Given the description of an element on the screen output the (x, y) to click on. 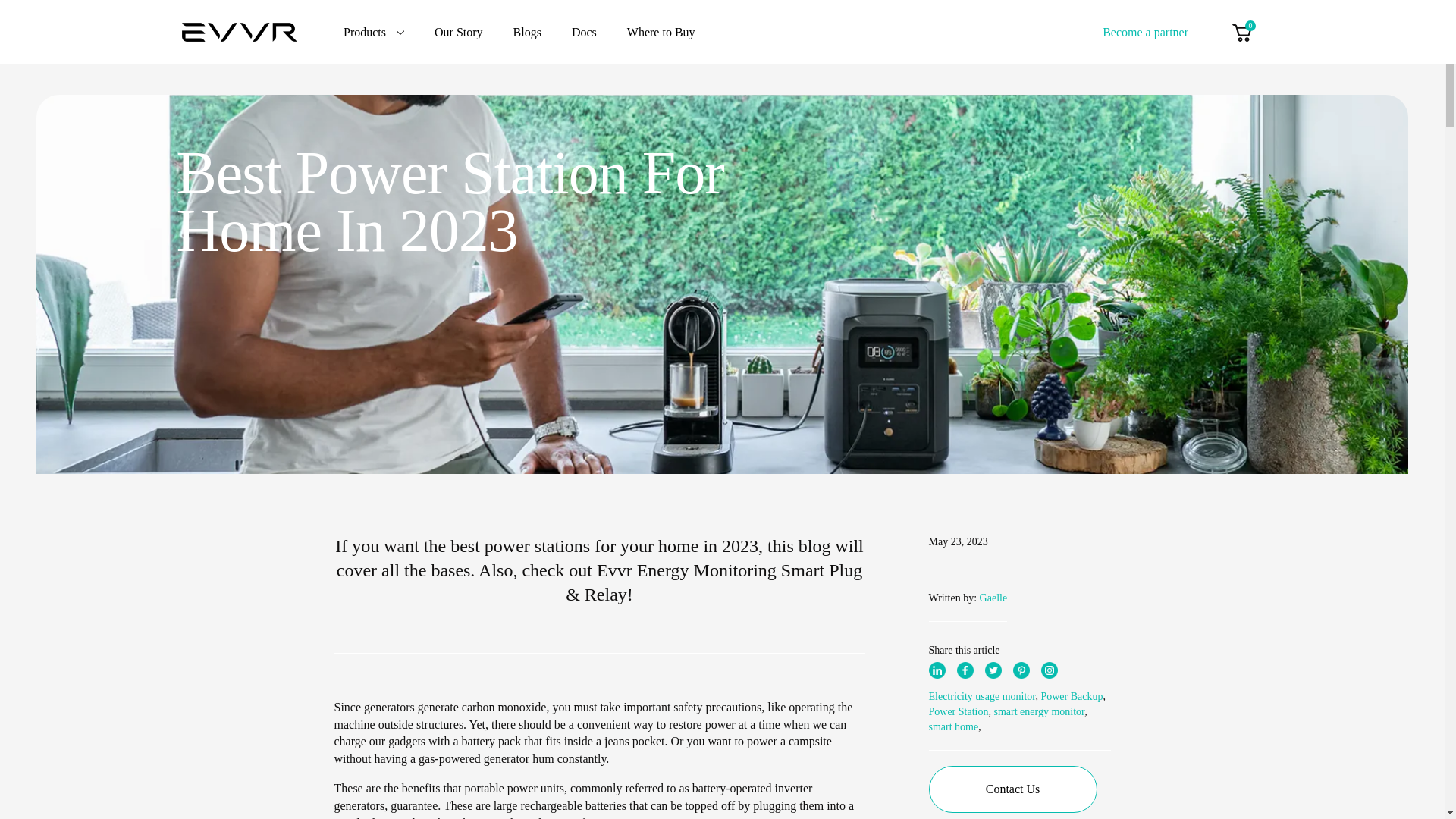
Our Story (458, 31)
Products (373, 31)
Become a partner (1144, 31)
Where to Buy (661, 31)
Blogs (527, 31)
Docs (584, 31)
0 (1240, 31)
